Given the description of an element on the screen output the (x, y) to click on. 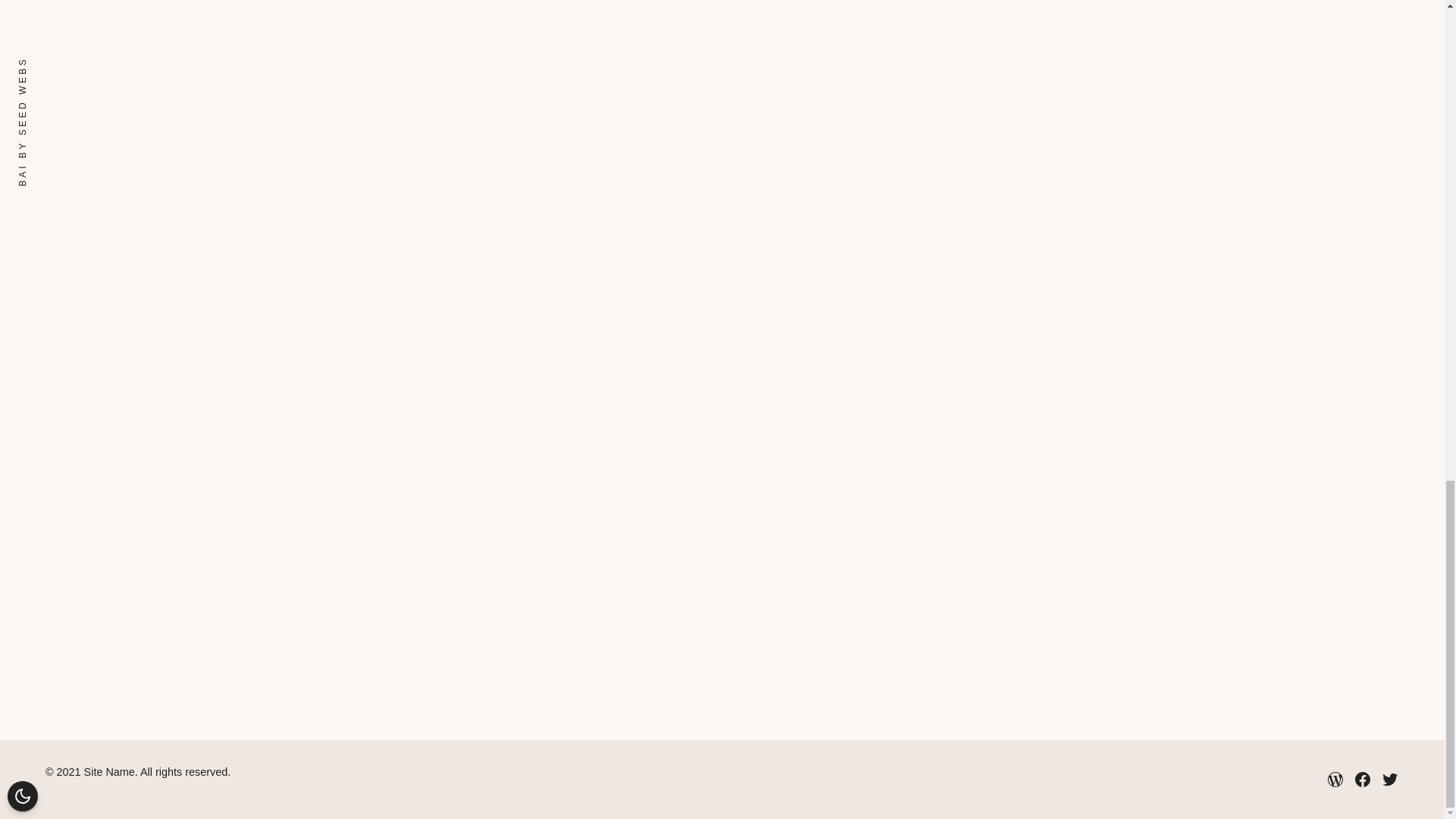
Facebook (1362, 779)
WordPress (1334, 779)
Twitter (1389, 779)
